Given the description of an element on the screen output the (x, y) to click on. 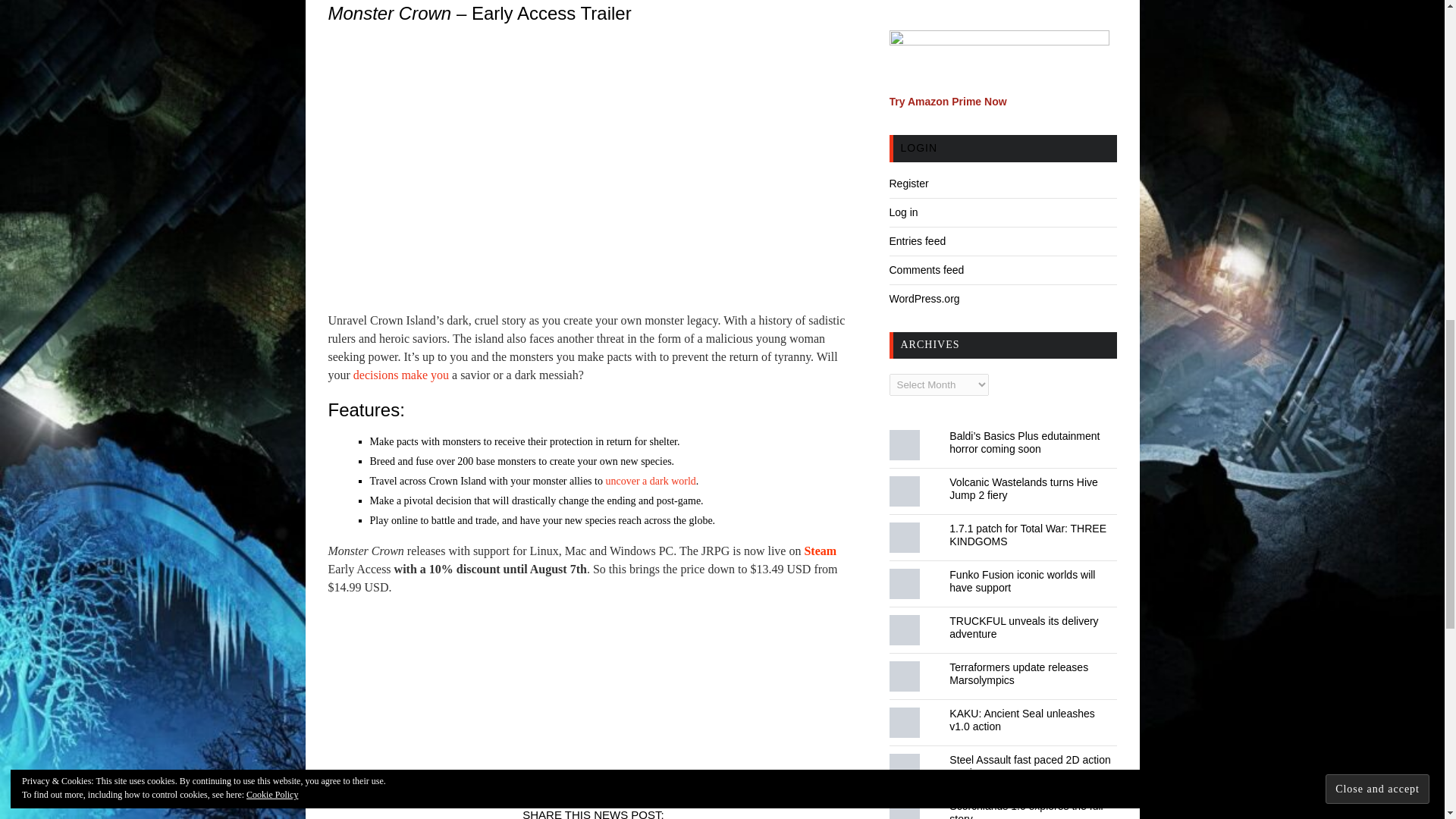
JRPG (582, 783)
STUDIO AURUM (367, 783)
decisions make you (400, 374)
EARLY ACCESS (448, 783)
MONSTER CROWN (798, 783)
MAC (617, 783)
Steam (819, 550)
PC (647, 783)
EXPLORATION (526, 783)
UNITY (730, 783)
uncover a dark world (650, 480)
UBUNTU (684, 783)
